Given the description of an element on the screen output the (x, y) to click on. 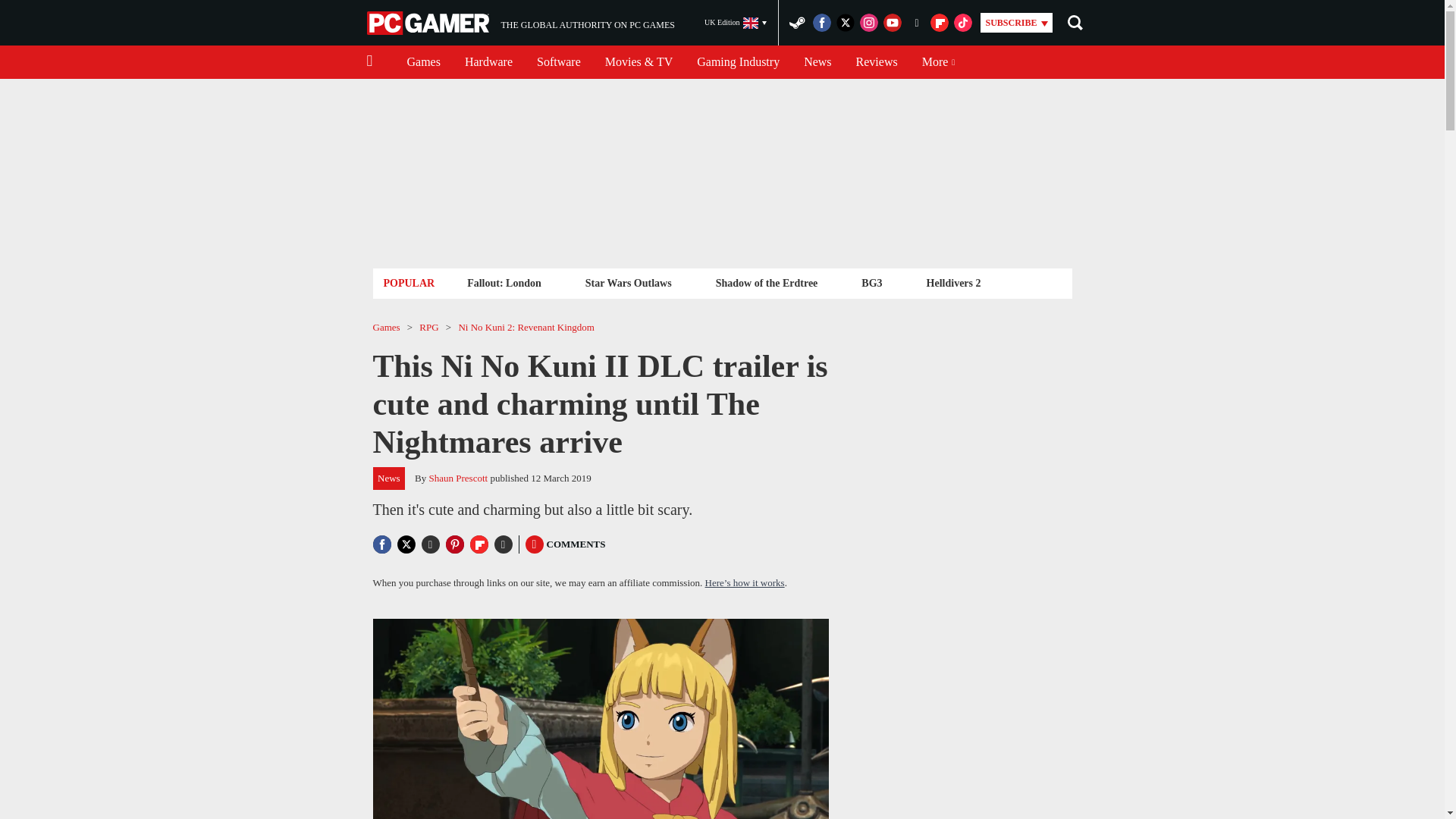
Hardware (488, 61)
Fallout: London (504, 282)
Software (558, 61)
UK Edition (735, 22)
News (817, 61)
Gaming Industry (738, 61)
Reviews (520, 22)
Games (877, 61)
Star Wars Outlaws (422, 61)
